Given the description of an element on the screen output the (x, y) to click on. 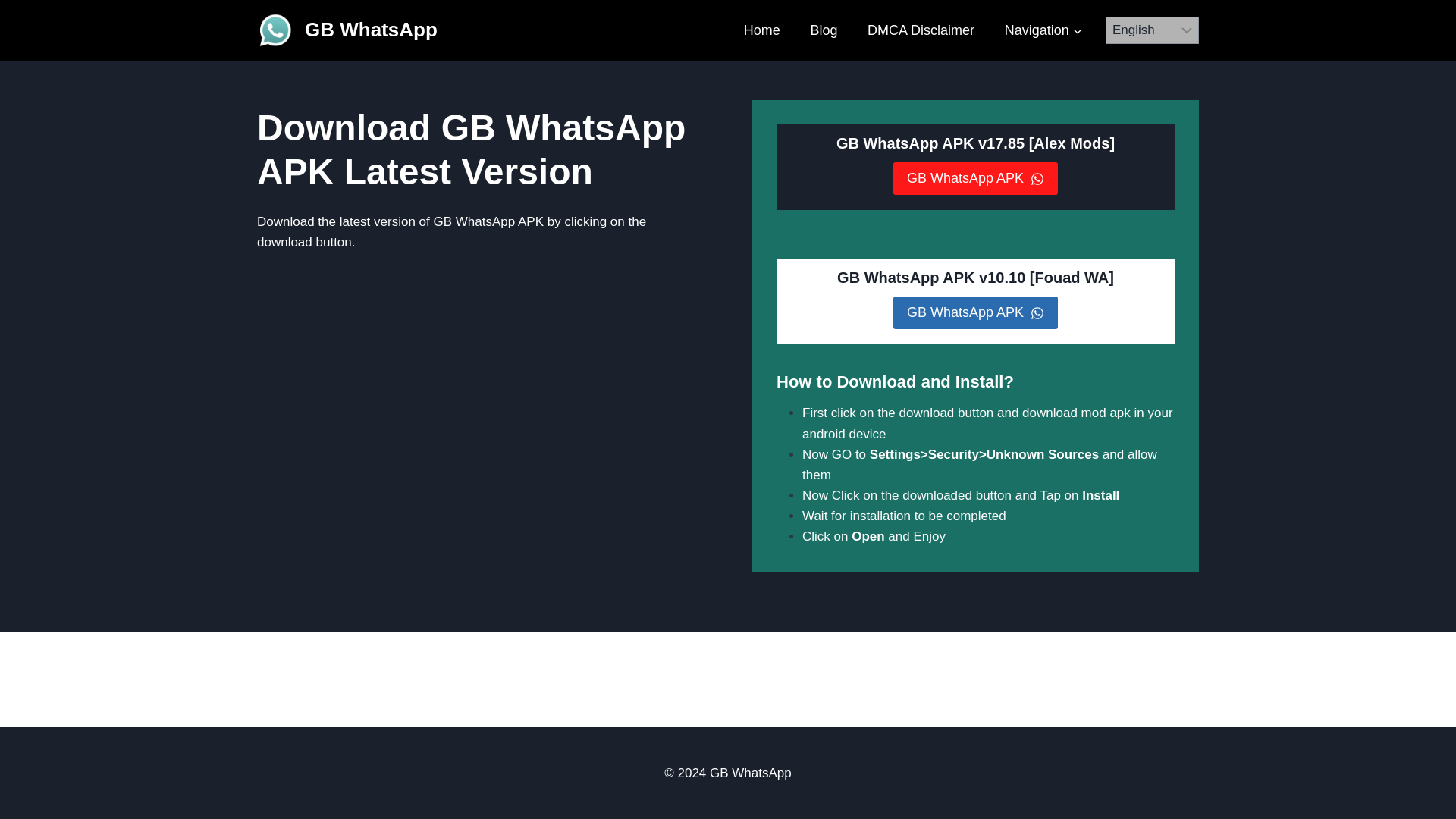
Navigation (1043, 30)
GB WhatsApp APK (975, 312)
DMCA Disclaimer (920, 30)
Home (761, 30)
GB WhatsApp (347, 29)
GB WhatsApp APK (975, 178)
Blog (823, 30)
